Given the description of an element on the screen output the (x, y) to click on. 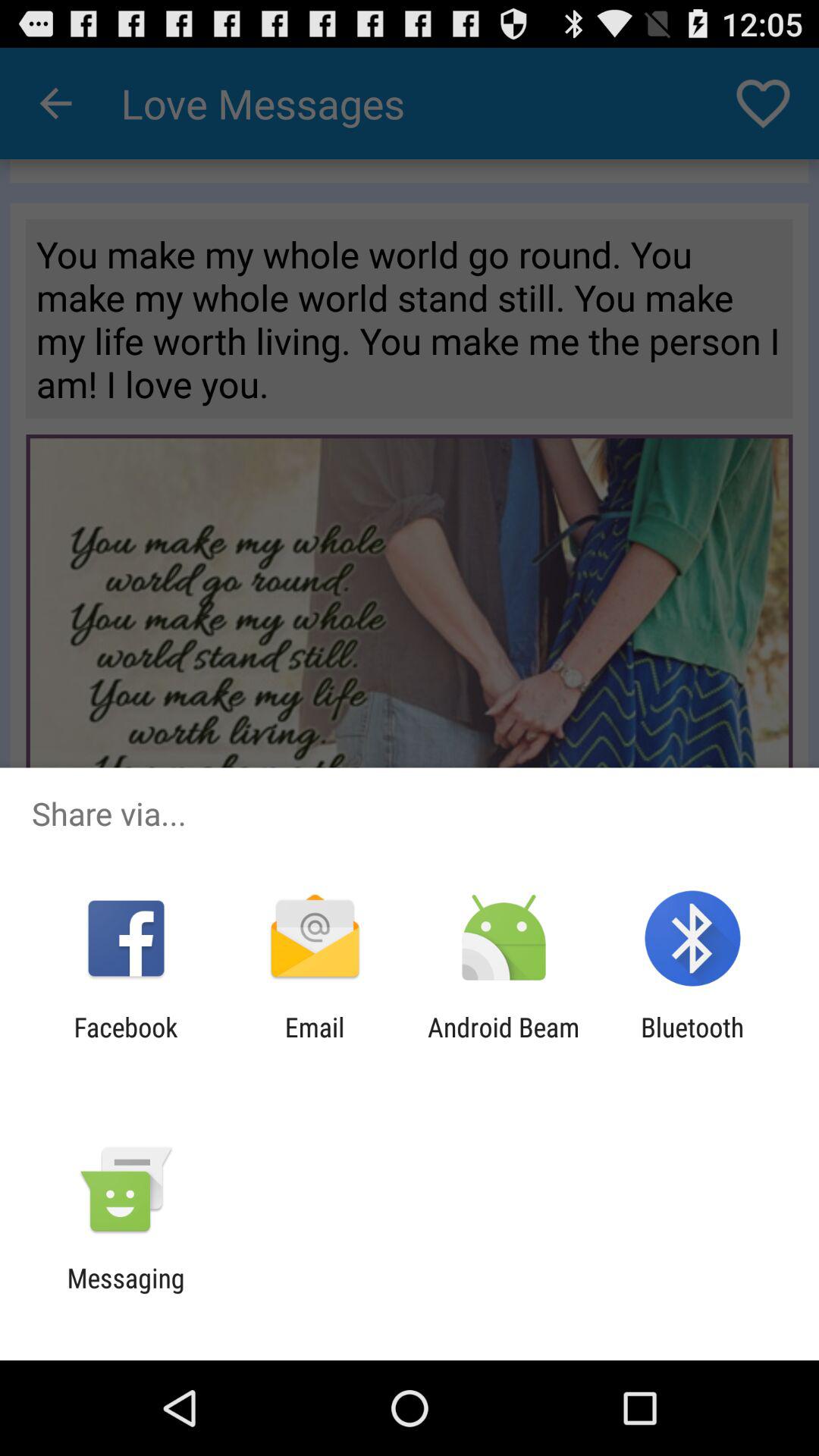
choose bluetooth app (691, 1042)
